Given the description of an element on the screen output the (x, y) to click on. 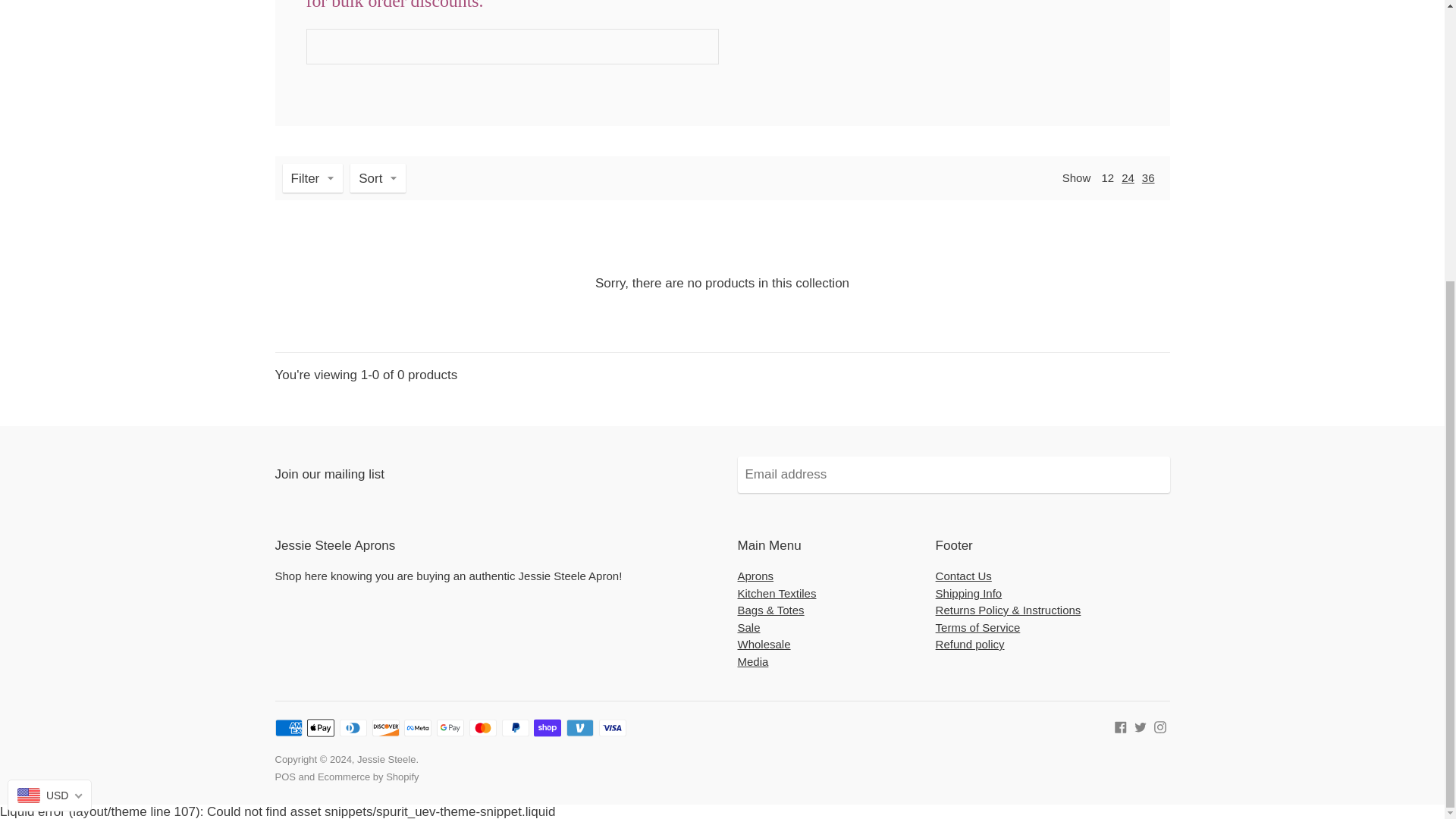
PayPal (515, 728)
Apple Pay (320, 728)
Jessie Steele on Facebook (1120, 726)
Mastercard (482, 728)
Visa (612, 728)
Jessie Steele on Instagram (1160, 726)
American Express (288, 728)
Venmo (580, 728)
Diners Club (352, 728)
Jessie Steele on Twitter (1140, 726)
Shop Pay (547, 728)
Meta Pay (417, 728)
Google Pay (450, 728)
Discover (385, 728)
